Given the description of an element on the screen output the (x, y) to click on. 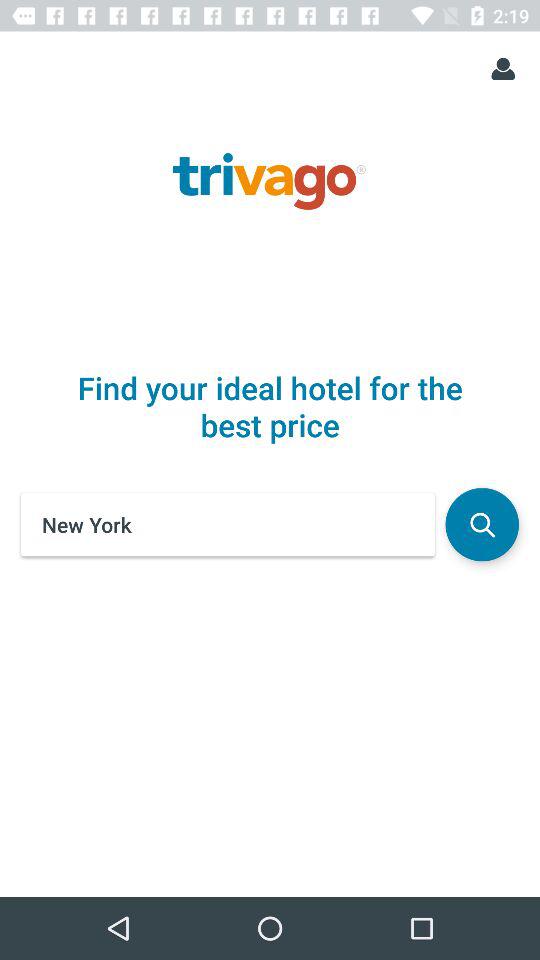
press the icon to the right of the new york icon (482, 524)
